Given the description of an element on the screen output the (x, y) to click on. 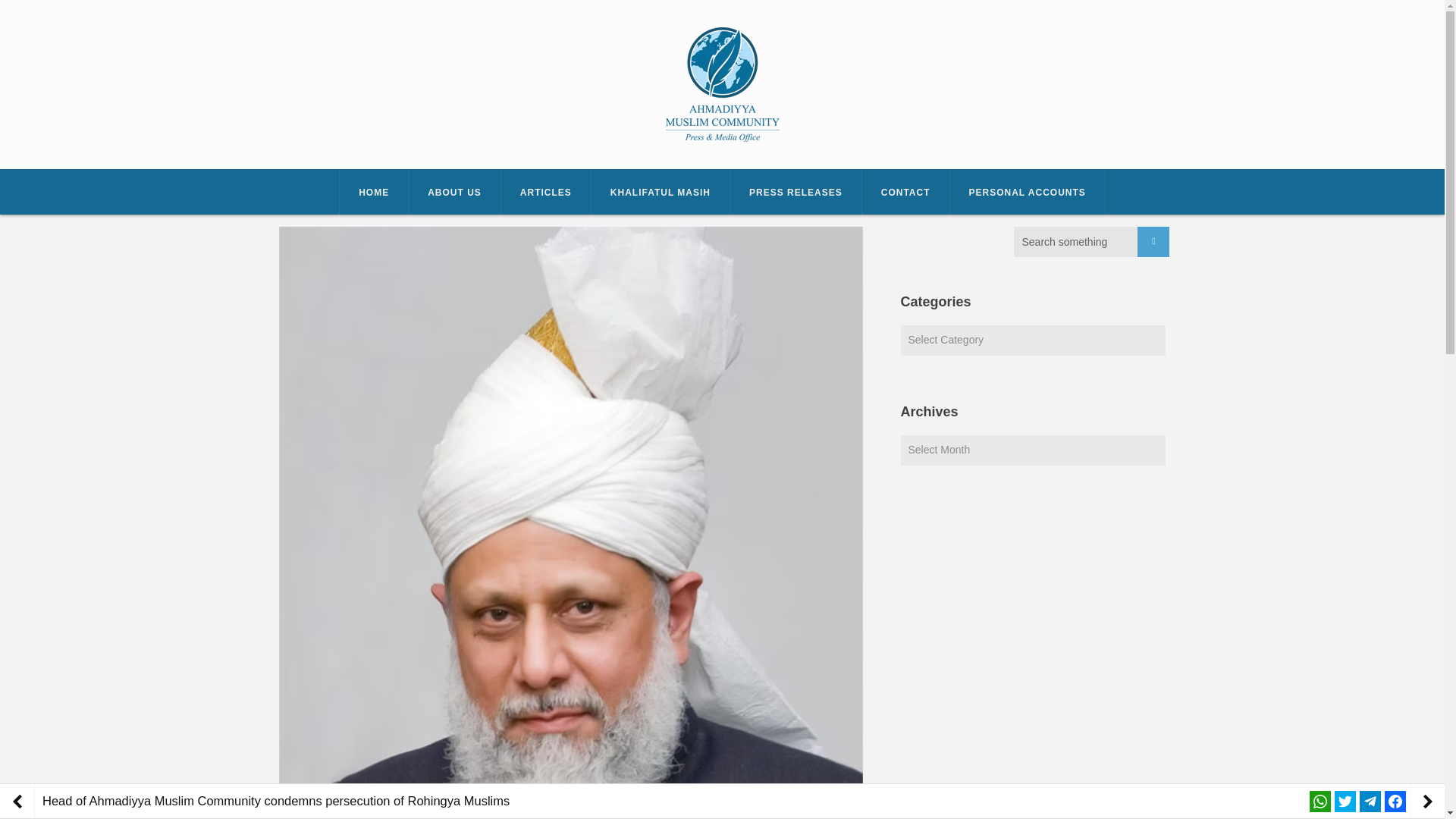
KHALIFATUL MASIH (660, 192)
Share on Facebook (1395, 800)
CONTACT (905, 192)
PERSONAL ACCOUNTS (1027, 192)
ABOUT US (454, 192)
HOME (374, 192)
ARTICLES (545, 192)
Share on WhatsApp (1319, 800)
Share on Telegram (1369, 800)
Share on Twitter (1345, 800)
